Given the description of an element on the screen output the (x, y) to click on. 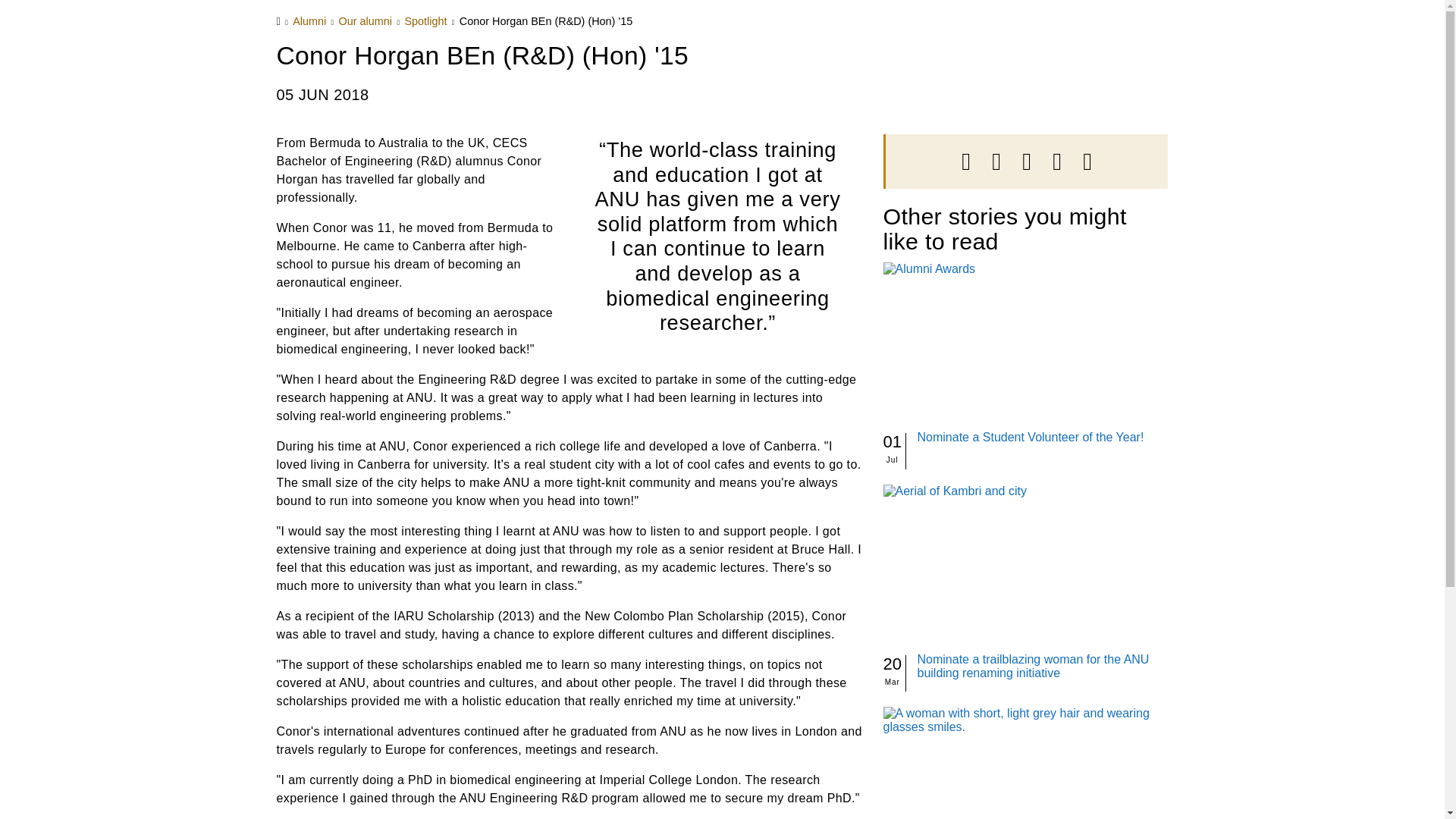
Alumni (309, 21)
Nominate a Student Volunteer of the Year! (1030, 436)
Our alumni (365, 21)
Spotlight (425, 21)
